Given the description of an element on the screen output the (x, y) to click on. 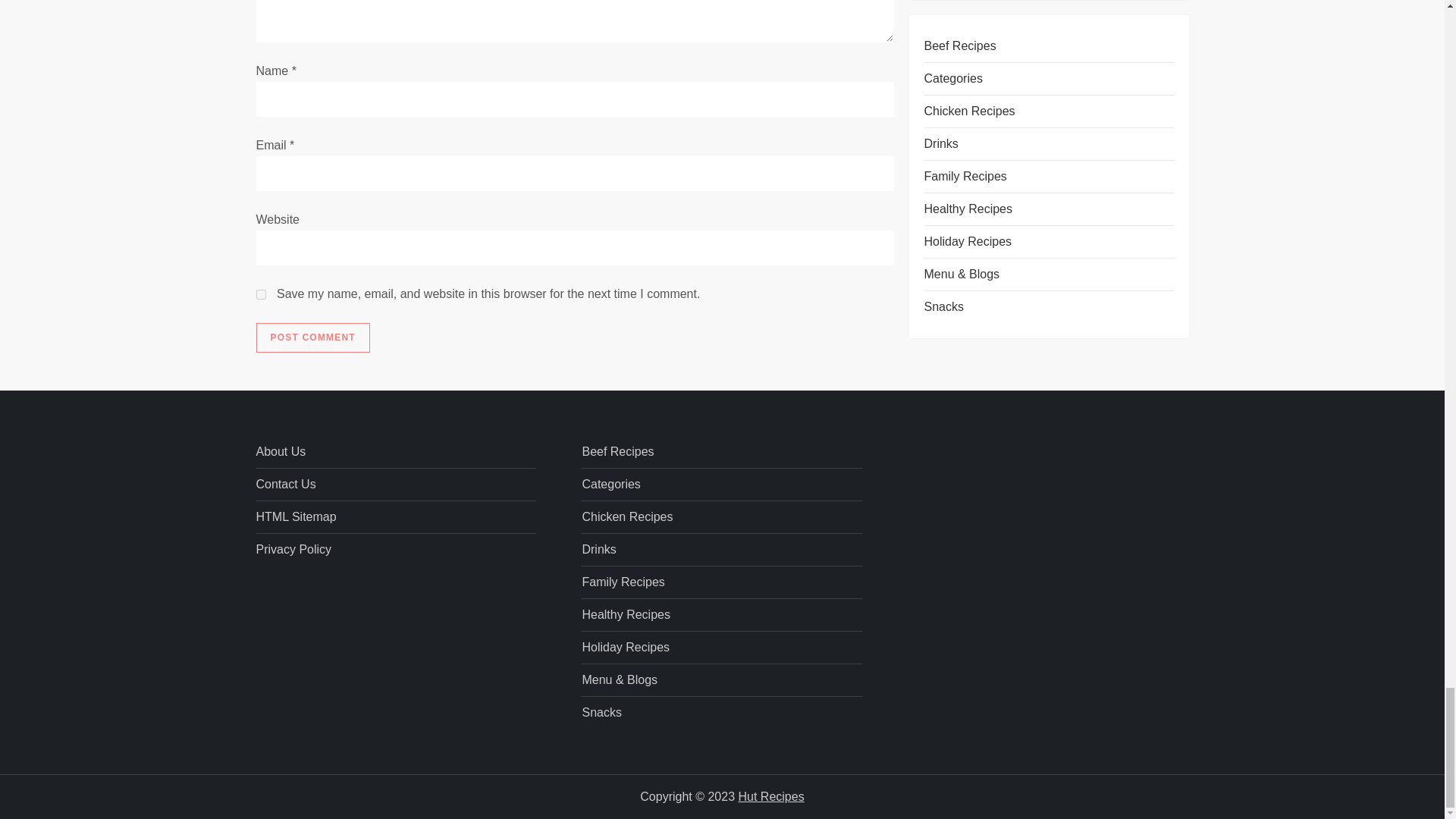
Post Comment (312, 337)
yes (261, 294)
